Given the description of an element on the screen output the (x, y) to click on. 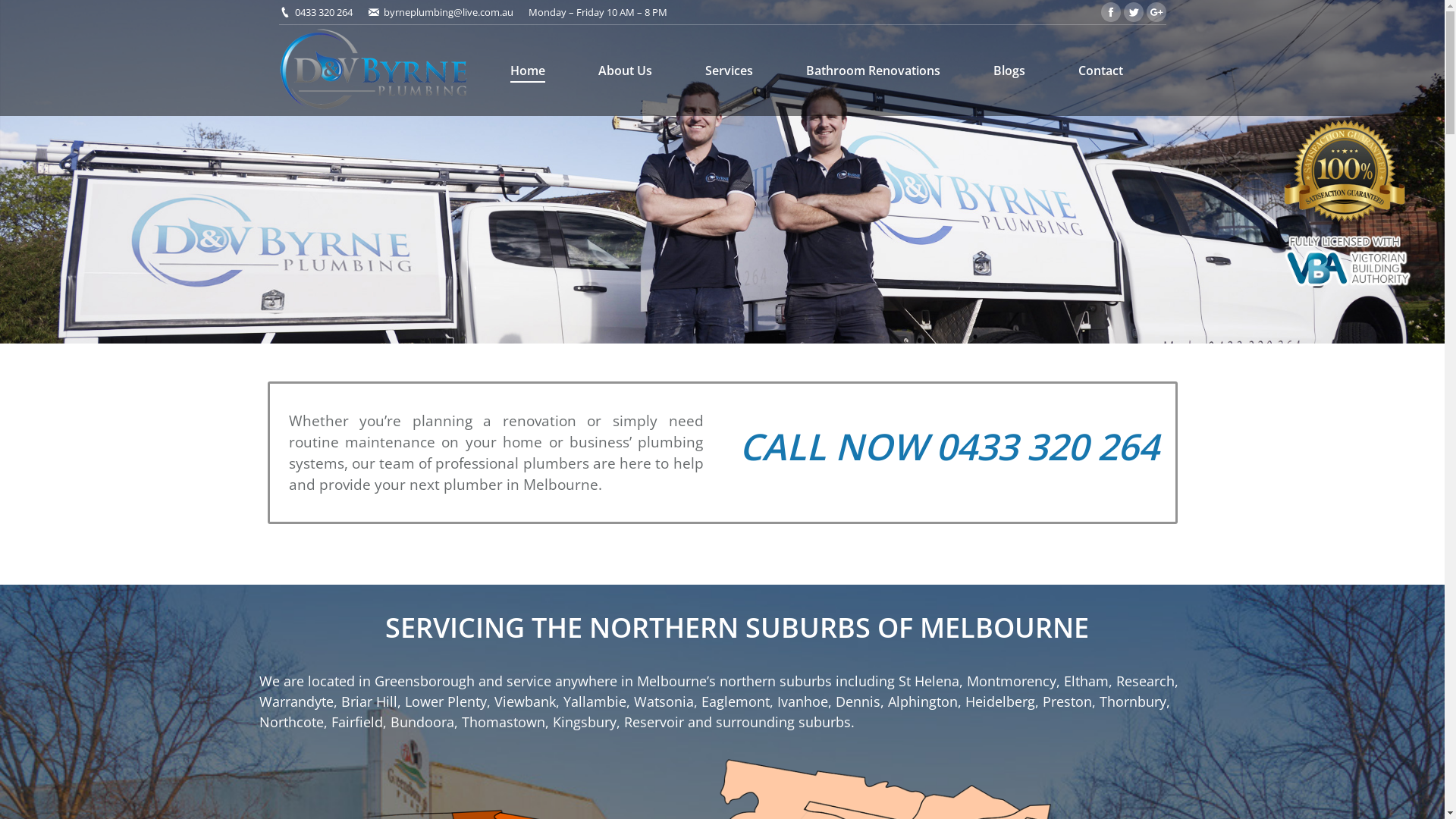
Contact Element type: text (1100, 70)
Blogs Element type: text (1009, 70)
Bathroom Renovations Element type: text (872, 70)
About Us Element type: text (624, 70)
Go! Element type: text (22, 14)
Twitter Element type: text (1133, 11)
Home Element type: text (526, 70)
Services Element type: text (728, 70)
Facebook Element type: text (1110, 11)
Google+ Element type: text (1156, 11)
CALL NOW 0433 320 264 Element type: text (947, 445)
